Given the description of an element on the screen output the (x, y) to click on. 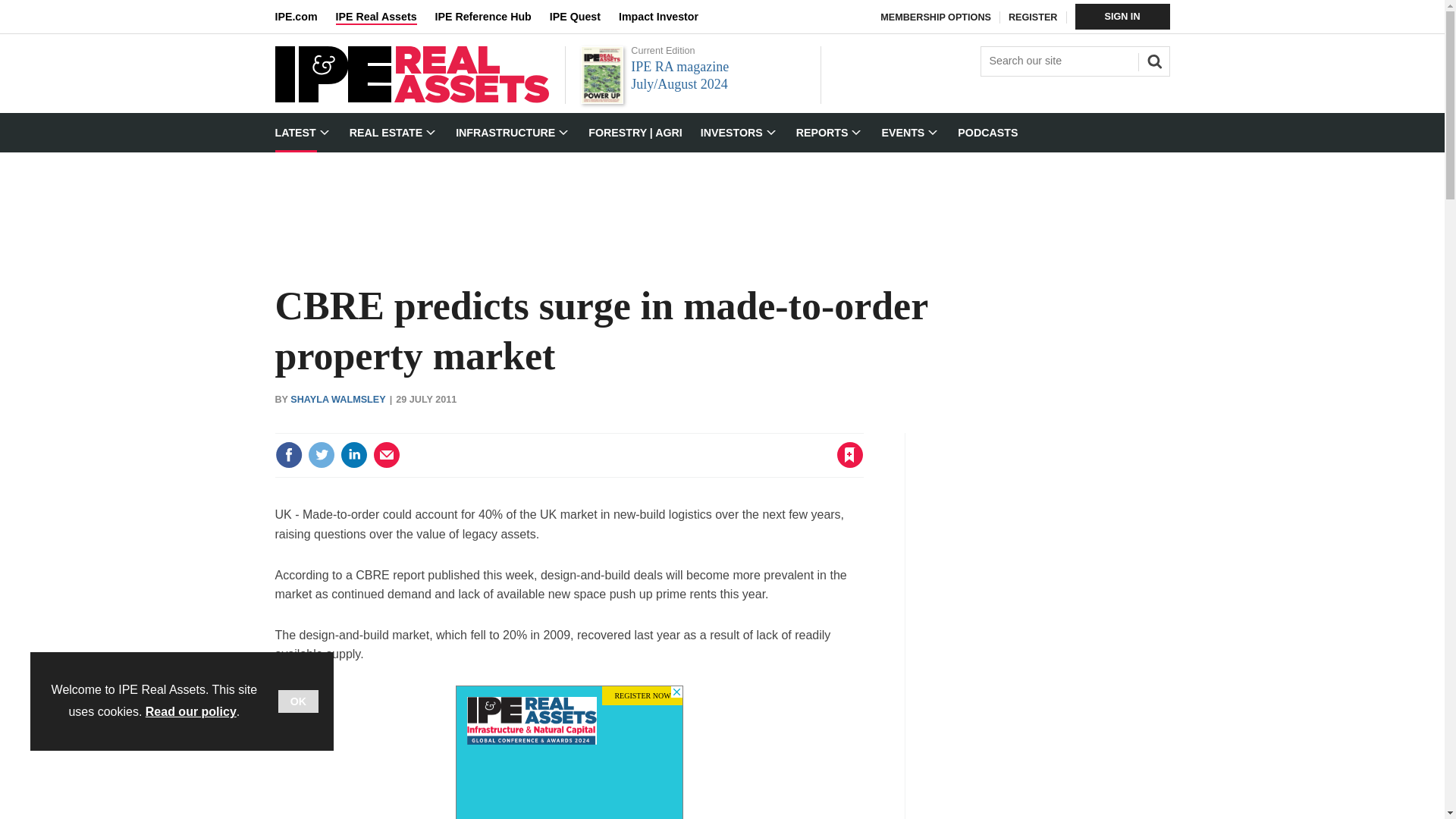
IPE Quest (583, 16)
Impact Investor (667, 16)
IPE.com (304, 16)
SEARCH (1152, 59)
REGISTER (1033, 17)
Share this on Twitter (320, 454)
OK (298, 701)
Impact Investor (667, 16)
Read our policy (190, 711)
MEMBERSHIP OPTIONS (935, 17)
